Given the description of an element on the screen output the (x, y) to click on. 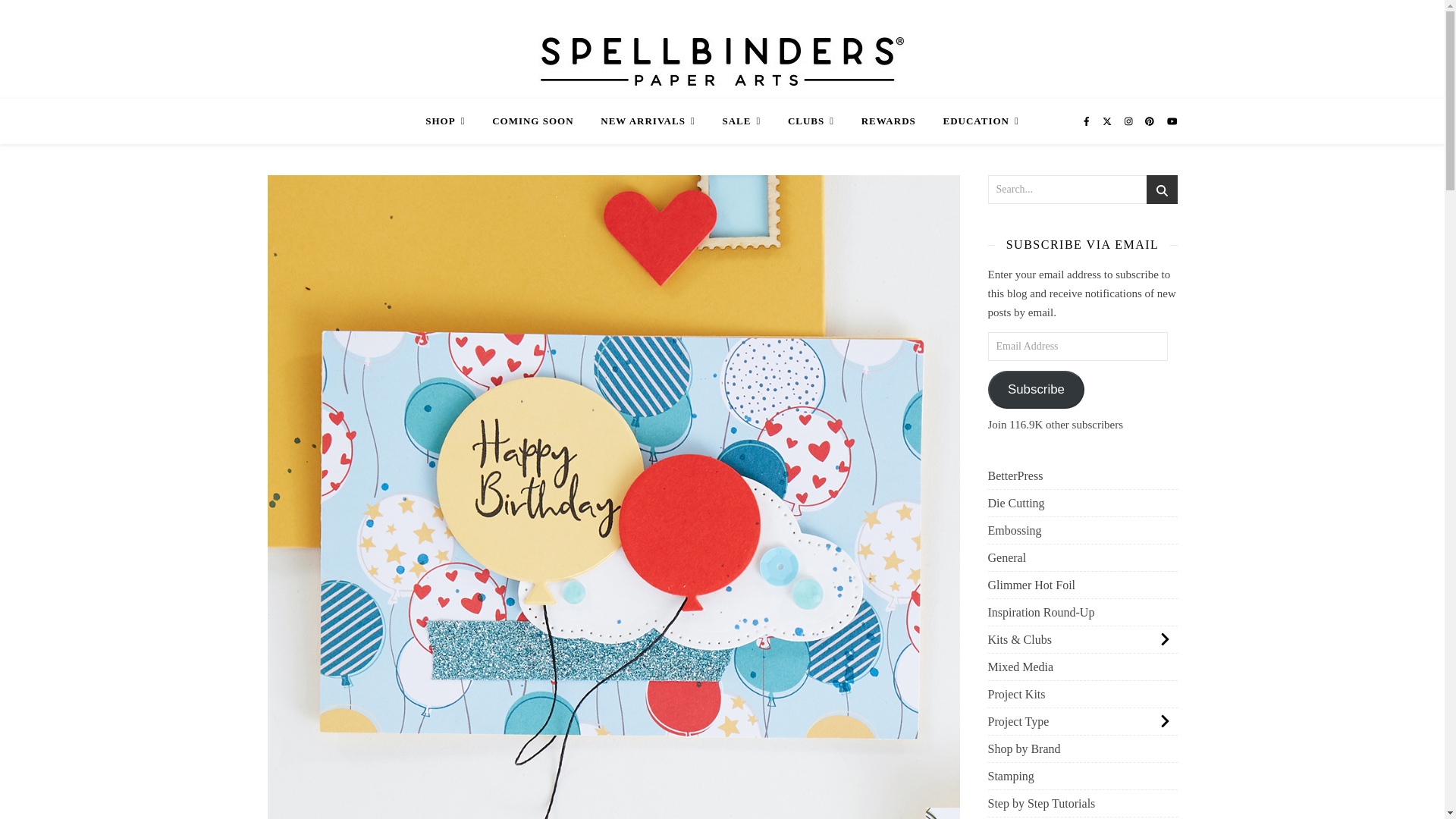
Spellbinders Blog (721, 59)
SHOP (451, 121)
